Given the description of an element on the screen output the (x, y) to click on. 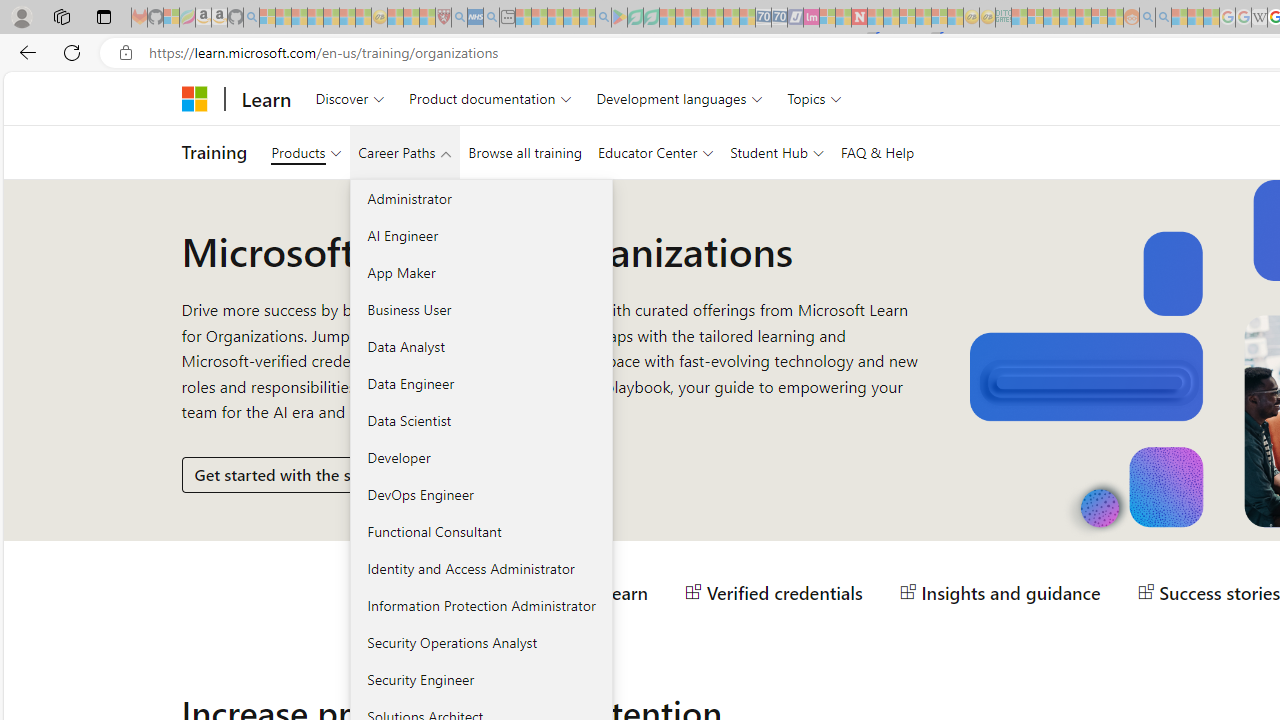
Security Operations Analyst (480, 642)
Browse all training (524, 152)
App Maker (480, 272)
Identity and Access Administrator (480, 568)
Get started with the skilling playbook > (338, 474)
Information Protection Administrator (480, 605)
Security Operations Analyst (480, 642)
